Given the description of an element on the screen output the (x, y) to click on. 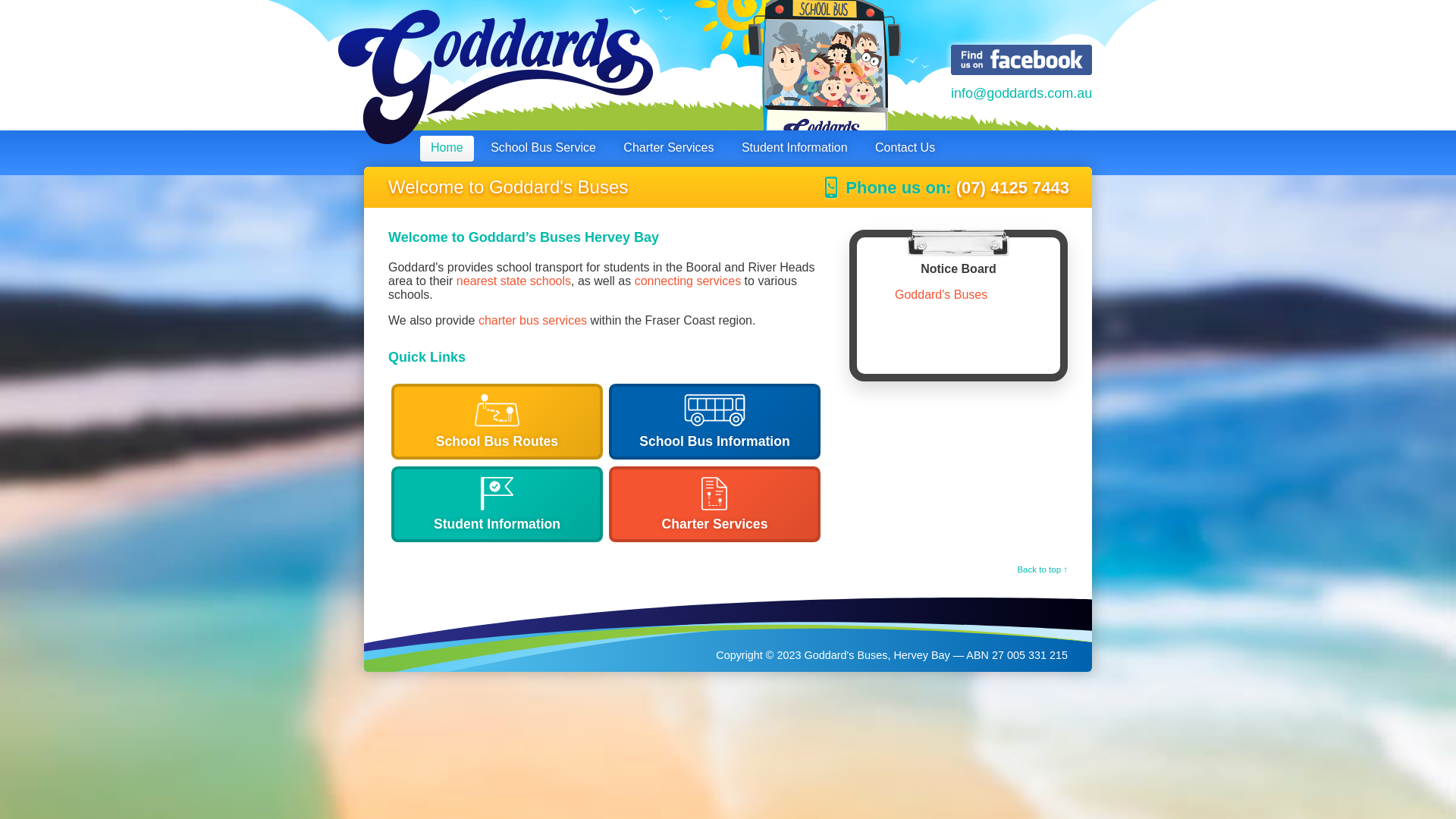
Contact Us Element type: text (904, 148)
Charter Services Element type: text (713, 504)
connecting services Element type: text (687, 280)
School Bus Information Element type: text (713, 421)
info@goddards.com.au Element type: text (1021, 93)
School Bus Routes Element type: text (496, 421)
Student Information Element type: text (794, 148)
School Bus Service Element type: text (543, 148)
Goddard's Buses Element type: text (940, 294)
Charter Services Element type: text (668, 148)
charter bus services Element type: text (532, 319)
nearest state schools Element type: text (513, 280)
Student Information Element type: text (496, 504)
Home Element type: text (446, 148)
